Given the description of an element on the screen output the (x, y) to click on. 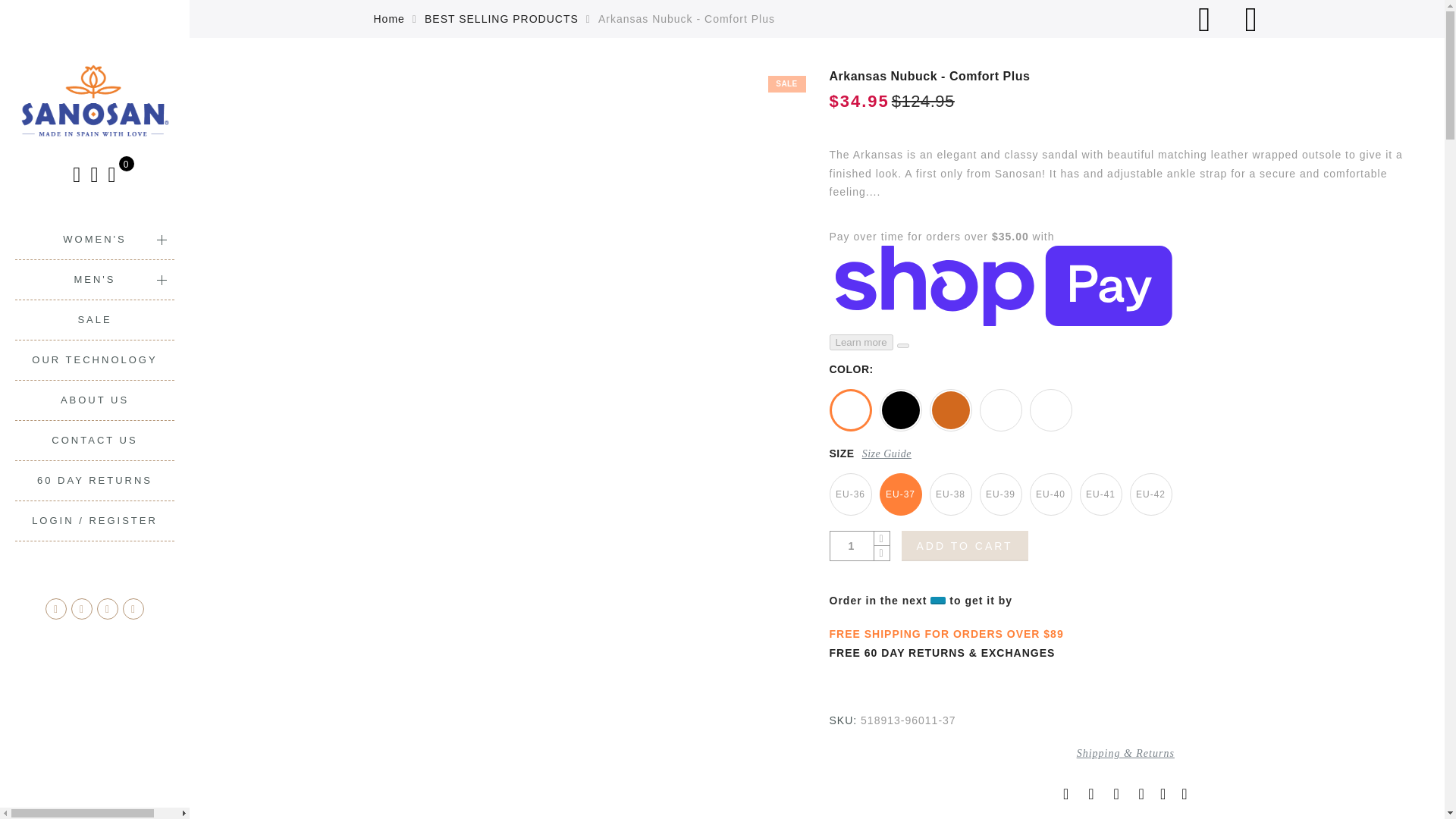
1 (851, 546)
View your shopping cart (111, 174)
Qty (851, 546)
0 (111, 174)
WOMEN'S (94, 239)
